Given the description of an element on the screen output the (x, y) to click on. 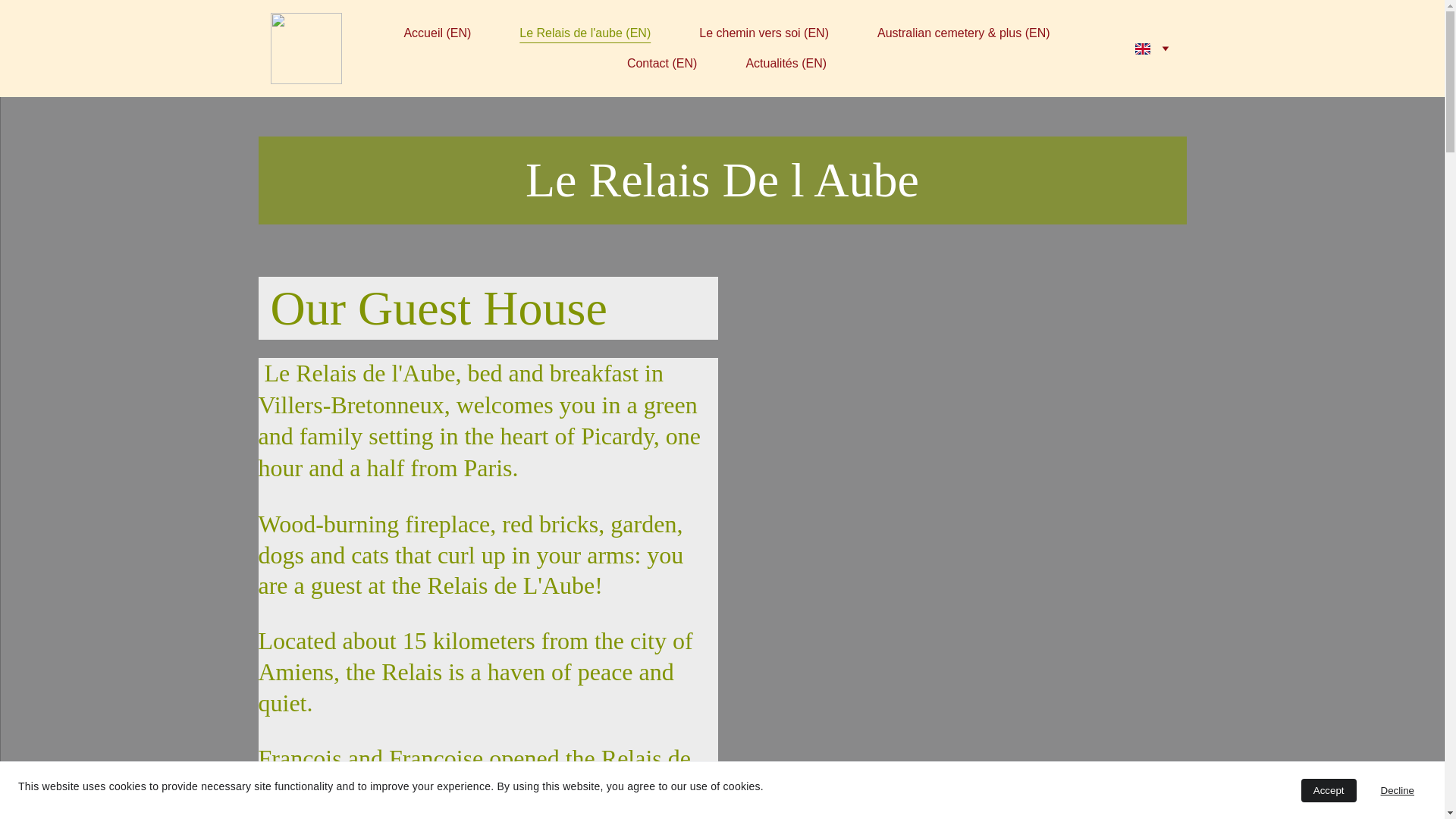
Decline (1397, 790)
Accept (1328, 790)
